Given the description of an element on the screen output the (x, y) to click on. 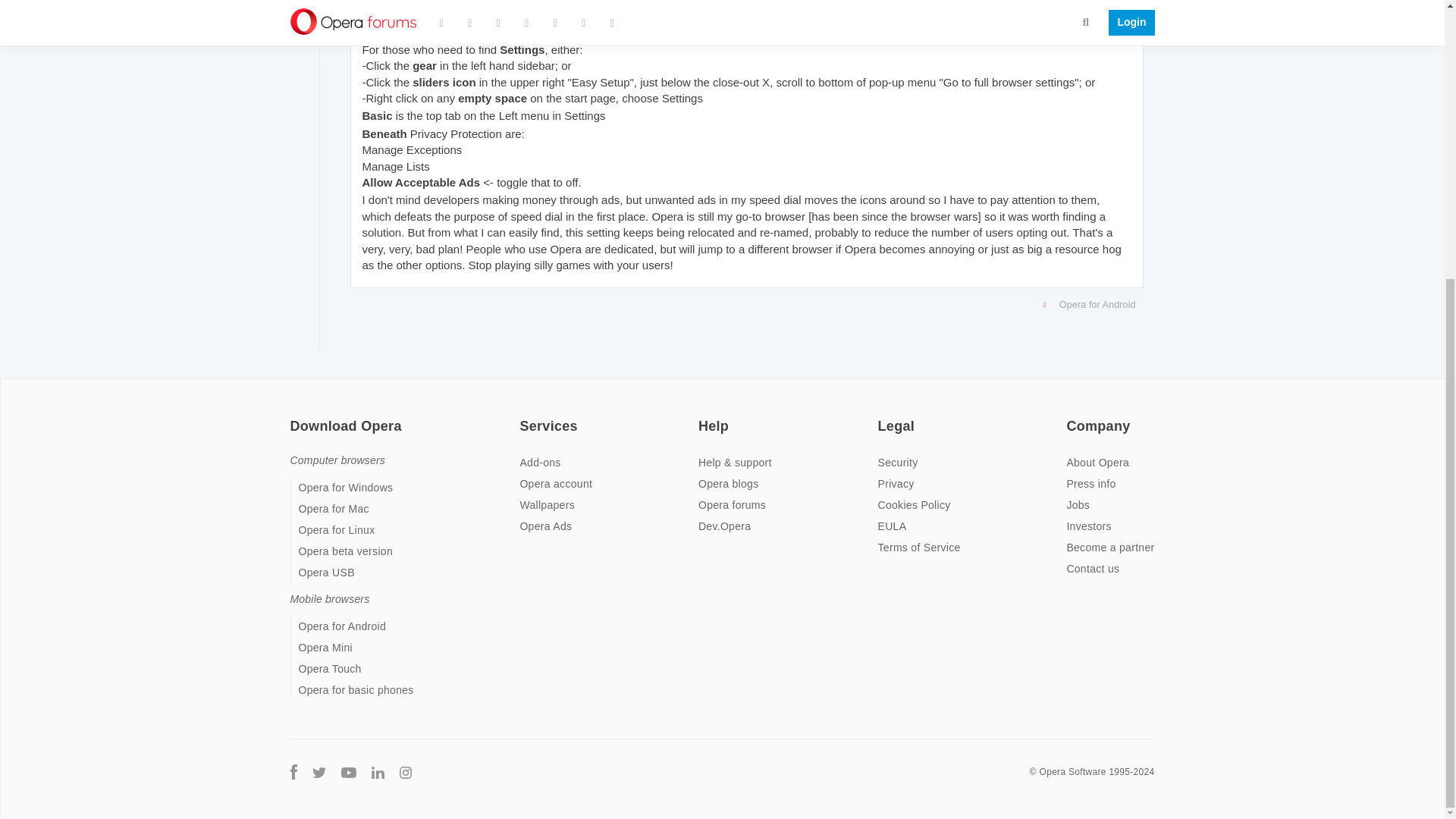
on (293, 415)
on (881, 415)
on (1070, 415)
on (523, 415)
on (702, 415)
